Given the description of an element on the screen output the (x, y) to click on. 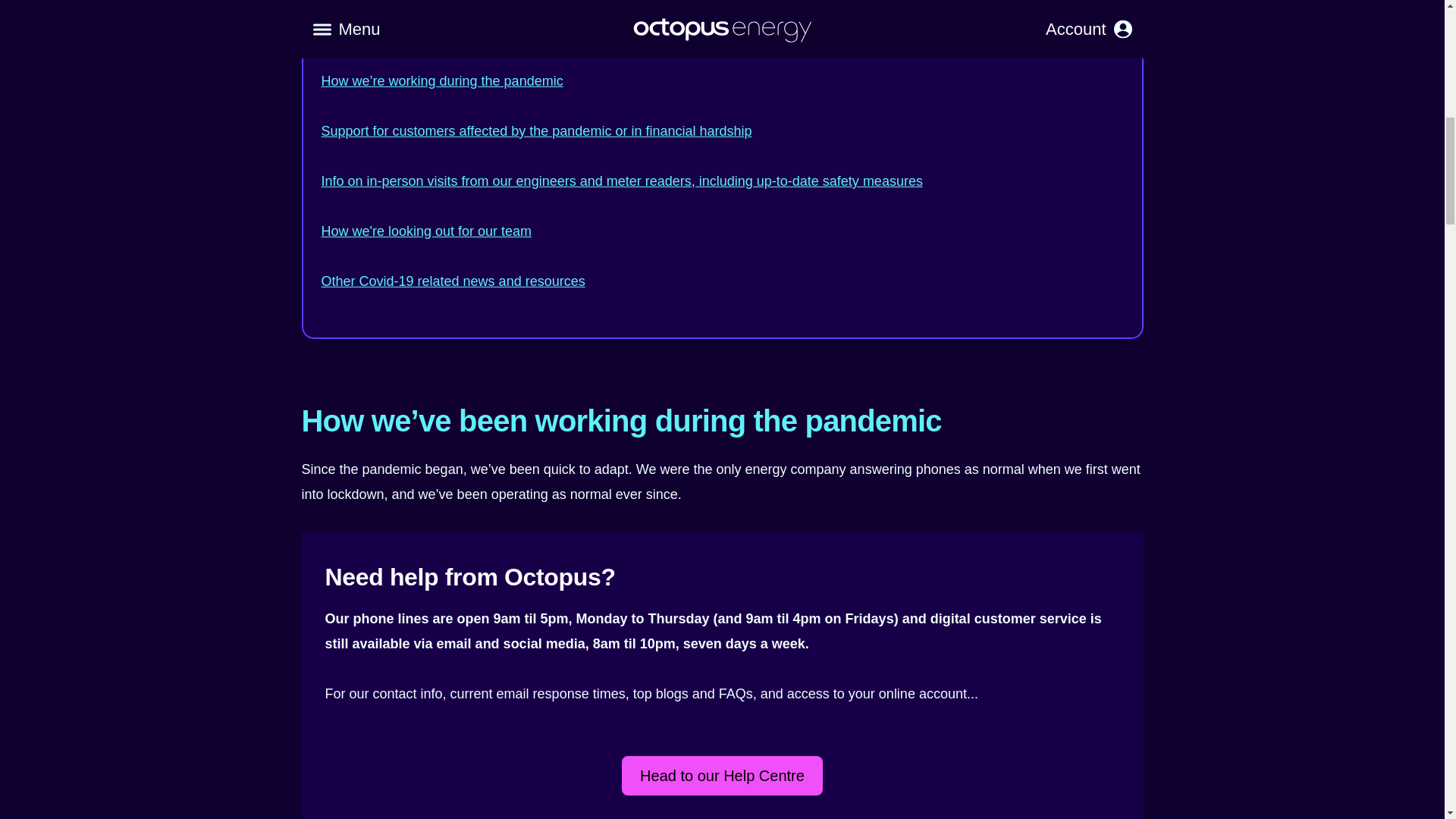
How we're looking out for our team (426, 231)
Other Covid-19 related news and resources (453, 281)
Head to our Help Centre (721, 775)
